Given the description of an element on the screen output the (x, y) to click on. 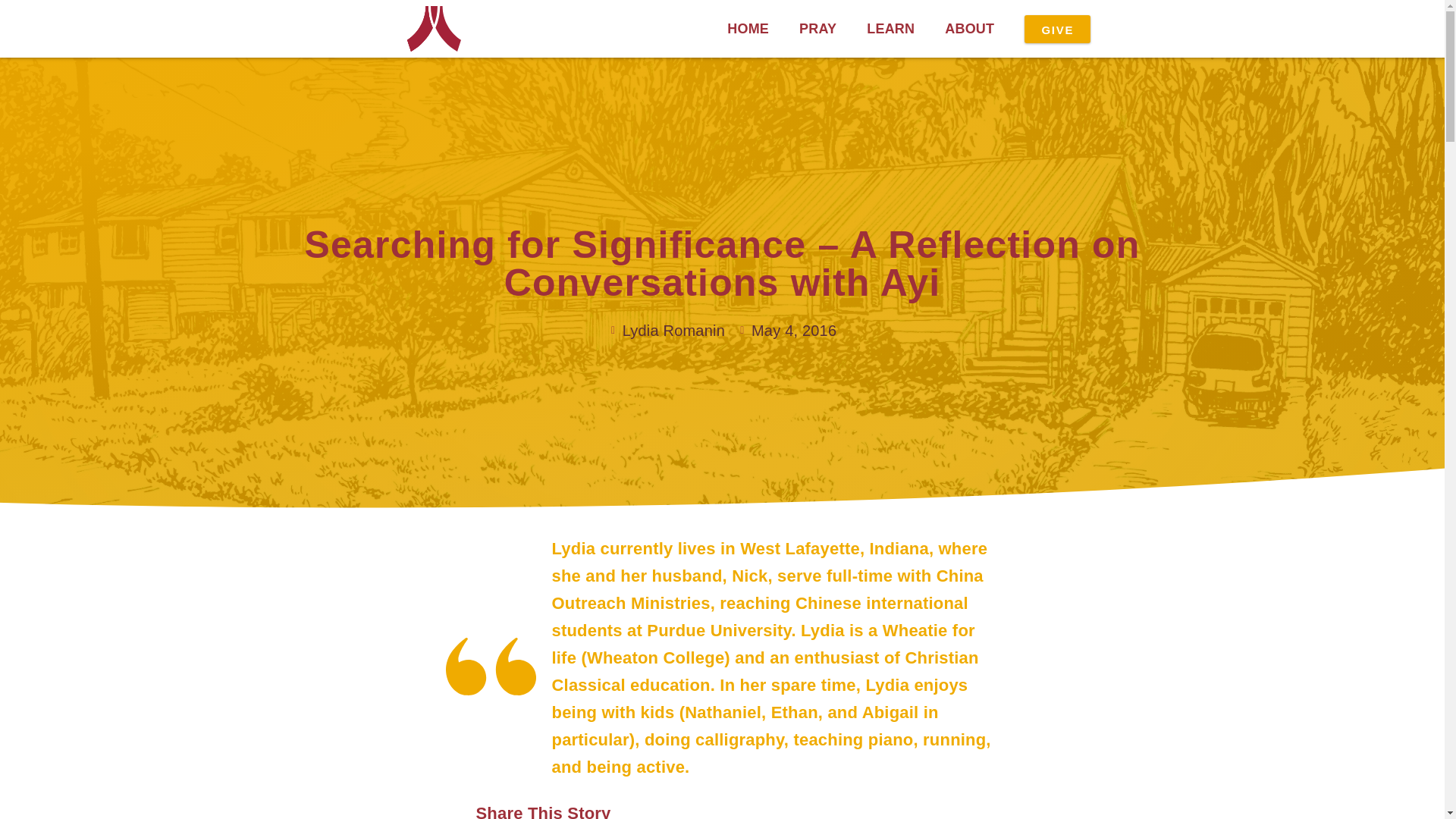
PRAY (817, 28)
HOME (747, 28)
ABOUT (969, 28)
LEARN (890, 28)
